Given the description of an element on the screen output the (x, y) to click on. 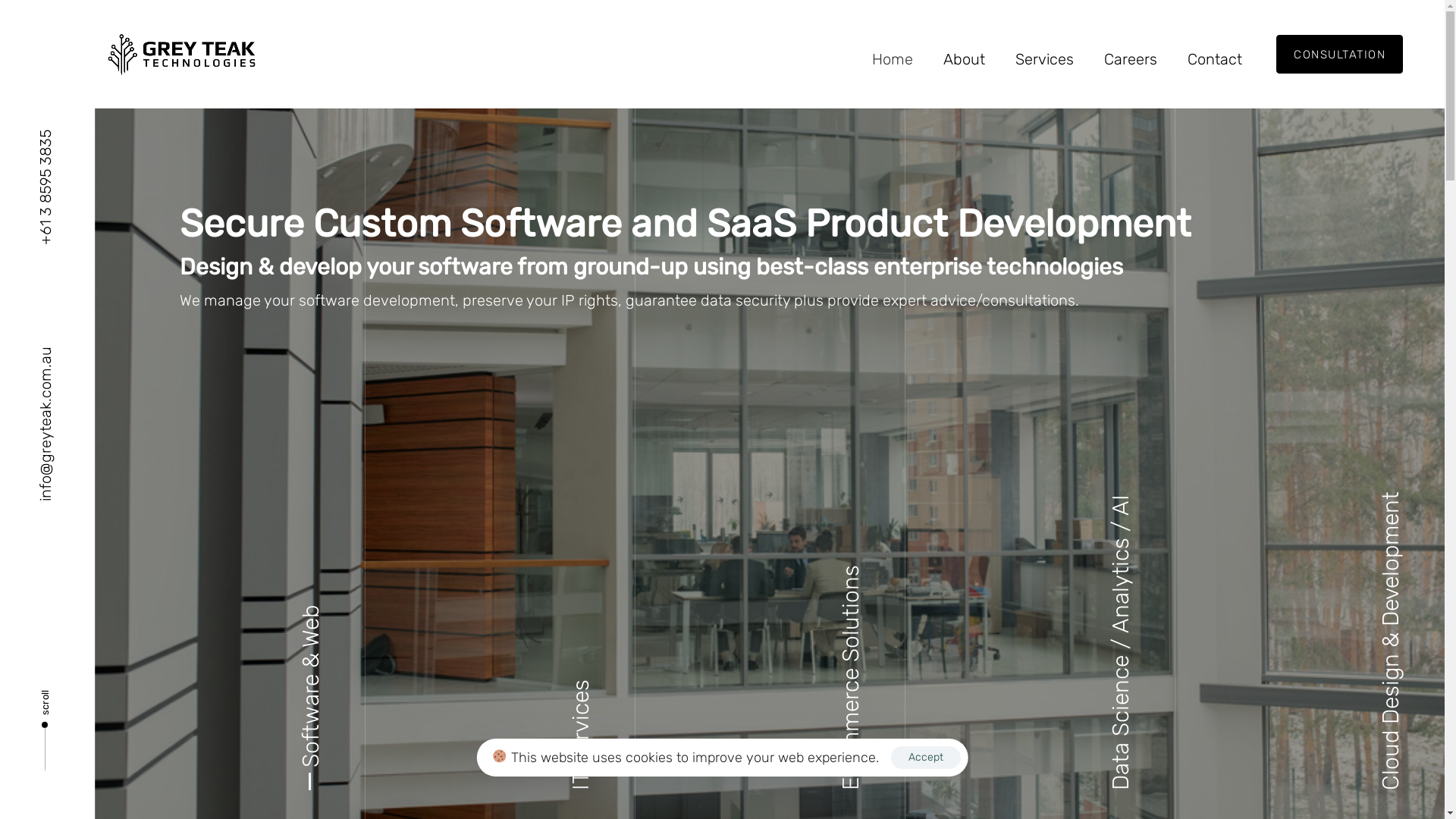
Managed IT Services Element type: text (721, 659)
03 8595 3835 Element type: text (998, 503)
About us Element type: text (425, 541)
Contact Element type: text (1214, 58)
Careers Element type: text (1130, 58)
Privacy Policy Element type: text (317, 777)
Website Terms Element type: text (397, 777)
Cloud Migration Solutions Element type: text (721, 600)
Mobile App Development Element type: text (721, 689)
Cloud Design & Development Element type: text (1390, 640)
+61 3 8595 3835 Element type: text (45, 186)
Home Element type: text (892, 58)
E-Commerce Software Development Element type: text (721, 630)
Custom Software Development Element type: text (721, 511)
scroll Element type: text (45, 725)
info@greyteak.com.au Element type: text (45, 422)
Business Software Development Element type: text (721, 570)
Accept Element type: text (925, 757)
Data Science / Analytics / AI Element type: text (1120, 642)
Ecommerce Solutions Element type: text (850, 677)
Home Element type: text (425, 511)
Business Process Improvement Element type: text (721, 541)
Careers Element type: text (425, 600)
Contact Element type: text (425, 630)
Services Element type: text (425, 570)
About Element type: text (964, 58)
Software & Web Element type: text (310, 708)
Services Element type: text (1044, 58)
IT Services Element type: text (580, 734)
CONSULTATION Element type: text (1339, 53)
